Given the description of an element on the screen output the (x, y) to click on. 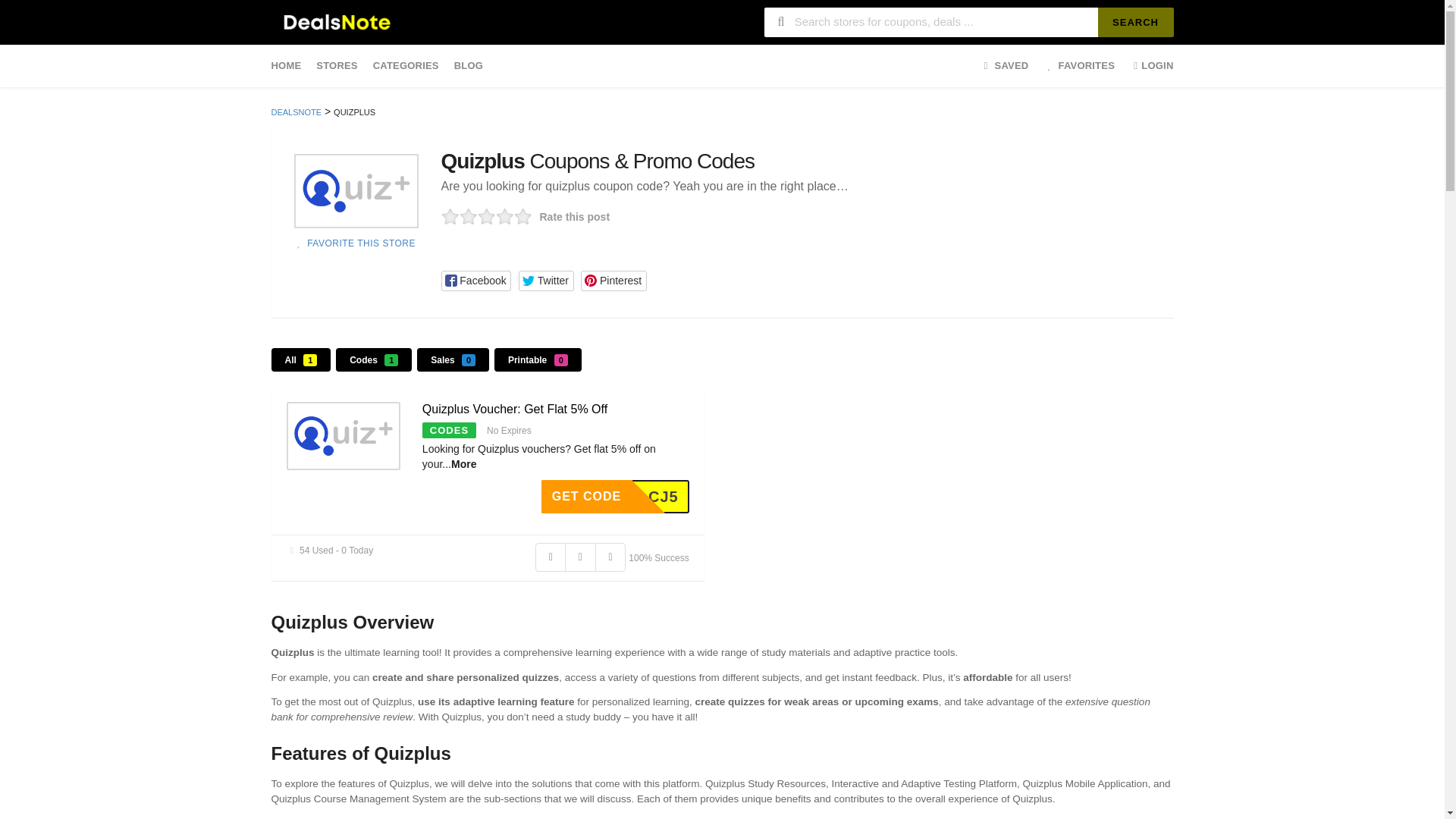
More (463, 463)
Share link on Twitter (545, 281)
FAVORITE THIS STORE (355, 243)
Shop Quizplus (356, 190)
STORES (336, 65)
quizplus (355, 190)
HOME (289, 65)
Share image on Pinterest (613, 281)
DEALSNOTE (295, 112)
Go to Dealsnote. (295, 112)
LOGIN (1147, 65)
quizplus (343, 436)
FAVORITES (1078, 65)
Sales 0 (452, 359)
